Given the description of an element on the screen output the (x, y) to click on. 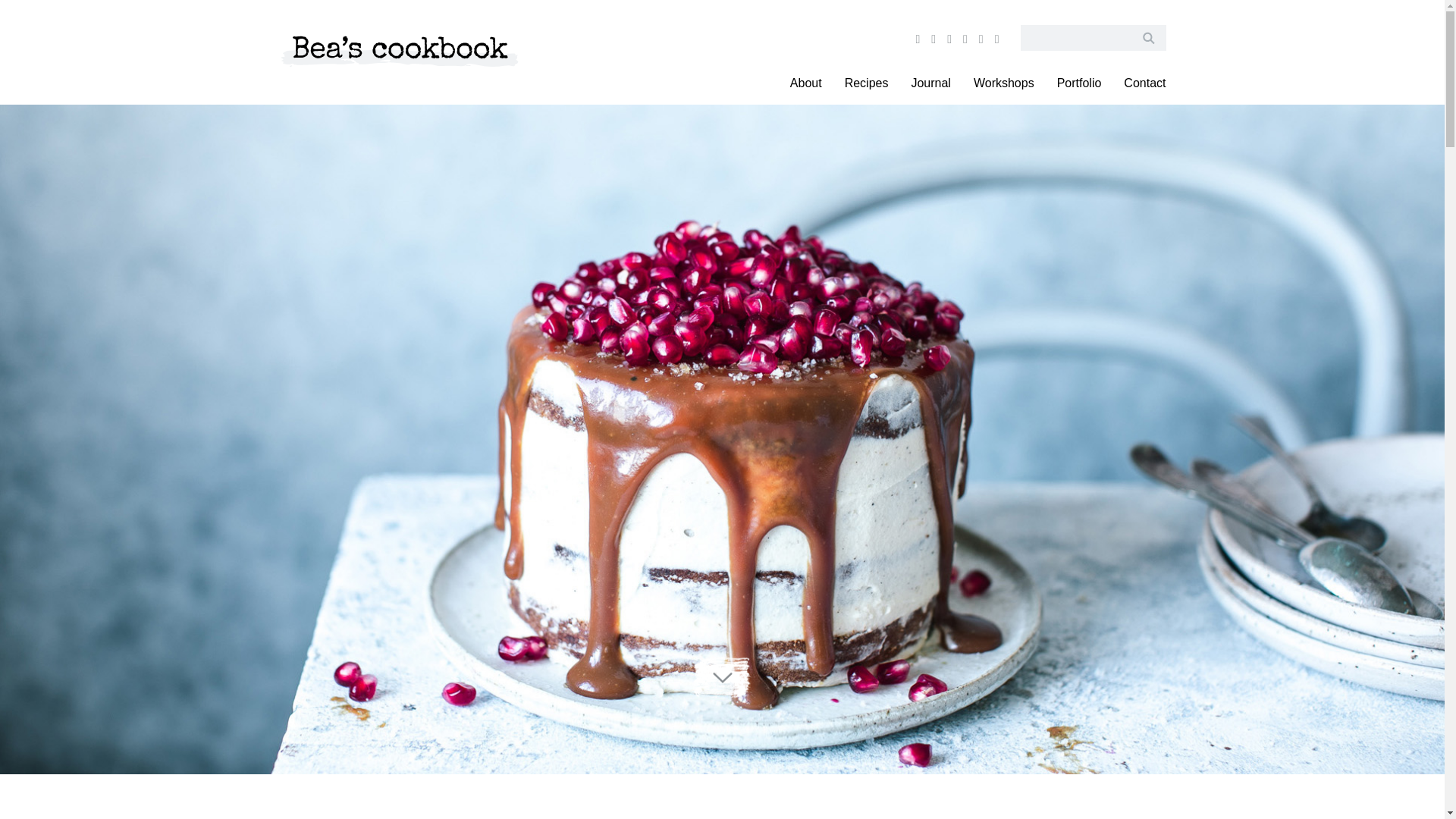
Workshops (1003, 83)
Recipes (865, 83)
About (805, 83)
Recipes (865, 83)
Contact (1144, 83)
Portfolio (1079, 83)
Journal (929, 83)
Portfolio (1079, 83)
Journal (929, 83)
About (805, 83)
Workshops (1003, 83)
Contact (1144, 83)
